Given the description of an element on the screen output the (x, y) to click on. 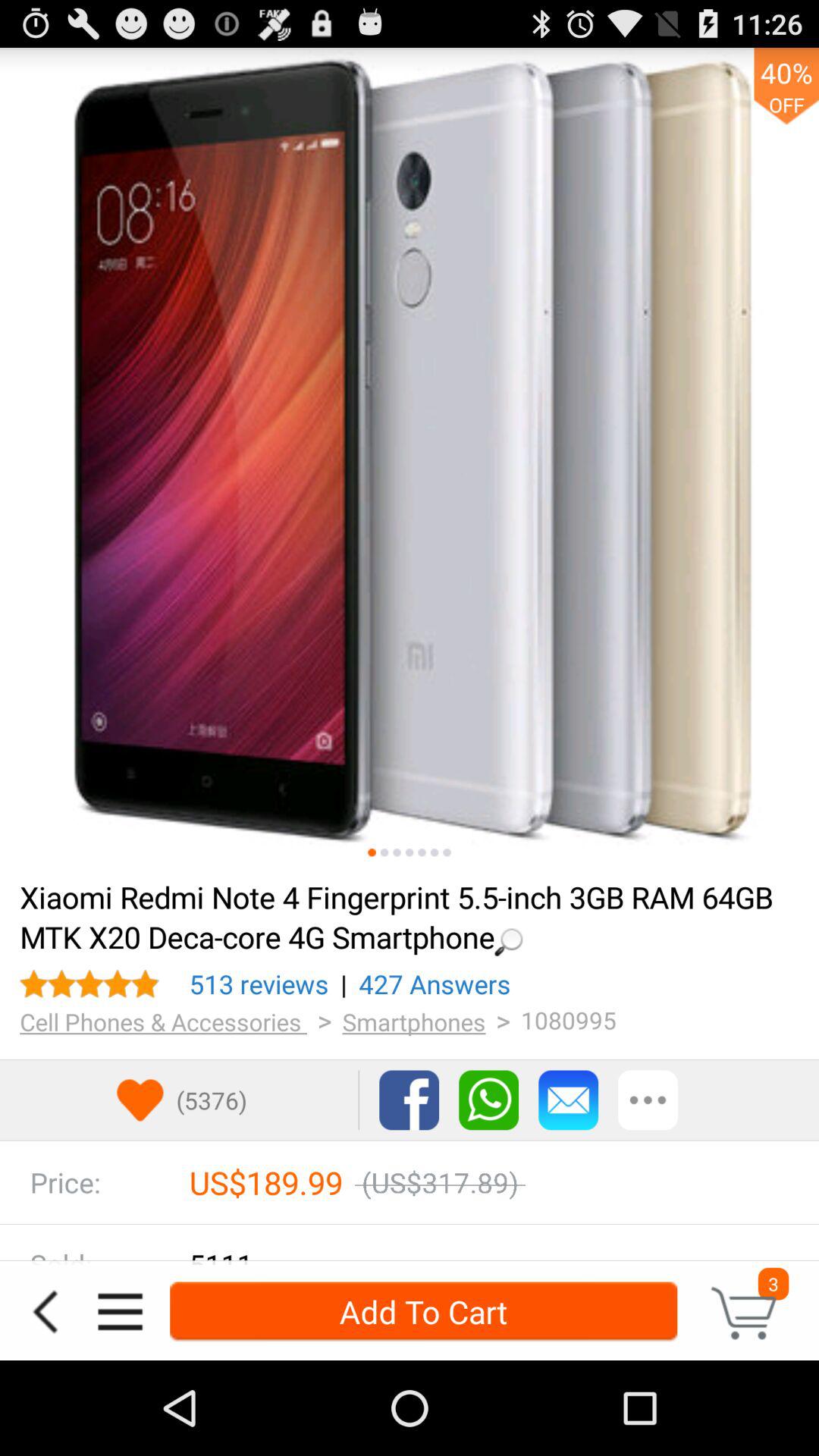
more options tab (647, 1100)
